Given the description of an element on the screen output the (x, y) to click on. 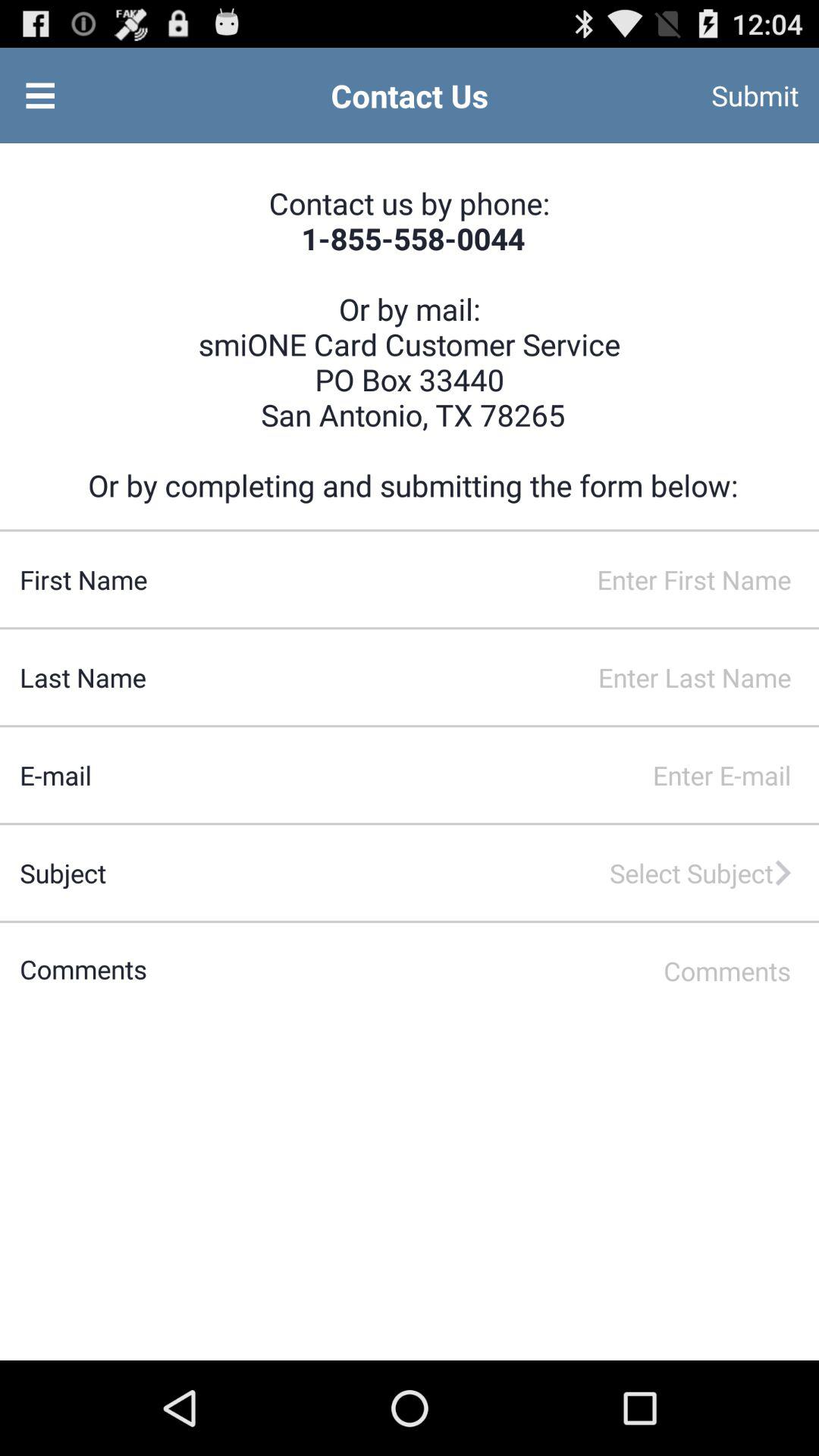
type in comments (483, 970)
